Given the description of an element on the screen output the (x, y) to click on. 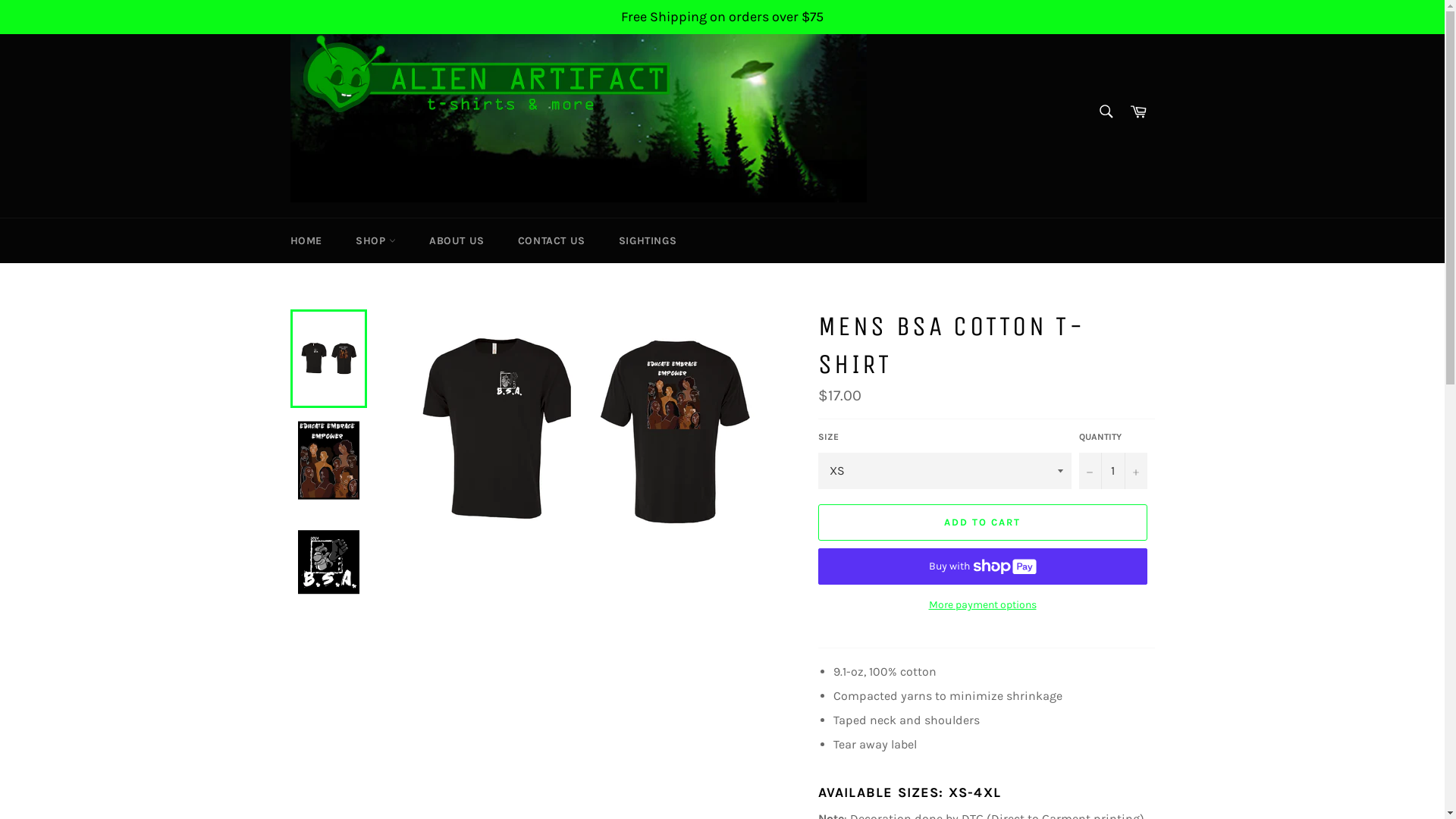
+ Element type: text (1134, 470)
CONTACT US Element type: text (551, 240)
SHOP Element type: text (375, 240)
More payment options Element type: text (981, 604)
ABOUT US Element type: text (456, 240)
SIGHTINGS Element type: text (647, 240)
Search Element type: text (1105, 111)
HOME Element type: text (305, 240)
ADD TO CART Element type: text (981, 522)
Cart Element type: text (1138, 112)
